Given the description of an element on the screen output the (x, y) to click on. 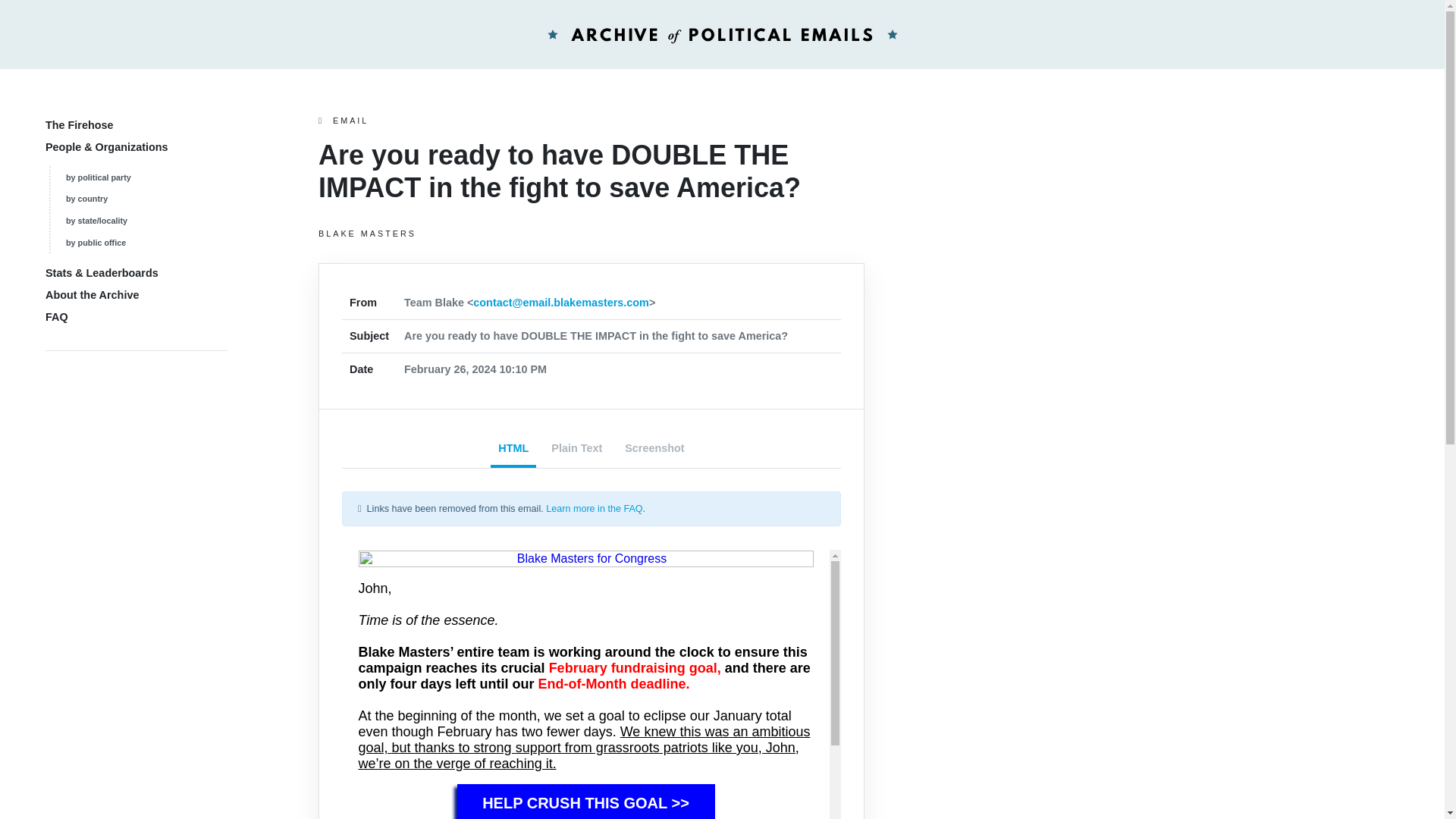
by country (86, 198)
HTML (512, 449)
About the Archive (91, 295)
Screenshot (654, 449)
FAQ (56, 316)
Plain Text (576, 449)
by public office (95, 242)
by political party (98, 176)
BLAKE MASTERS (591, 233)
Learn more in the FAQ (594, 508)
The Firehose (79, 124)
